Given the description of an element on the screen output the (x, y) to click on. 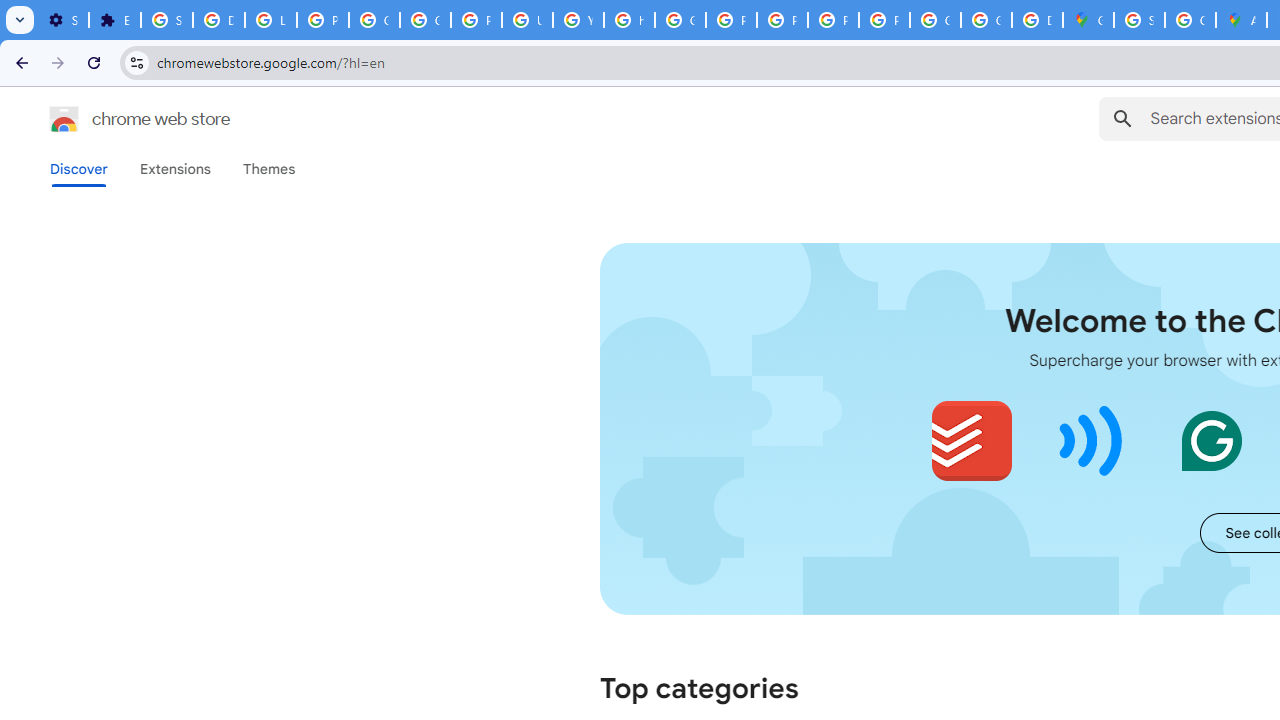
Extensions (174, 169)
https://scholar.google.com/ (629, 20)
